Given the description of an element on the screen output the (x, y) to click on. 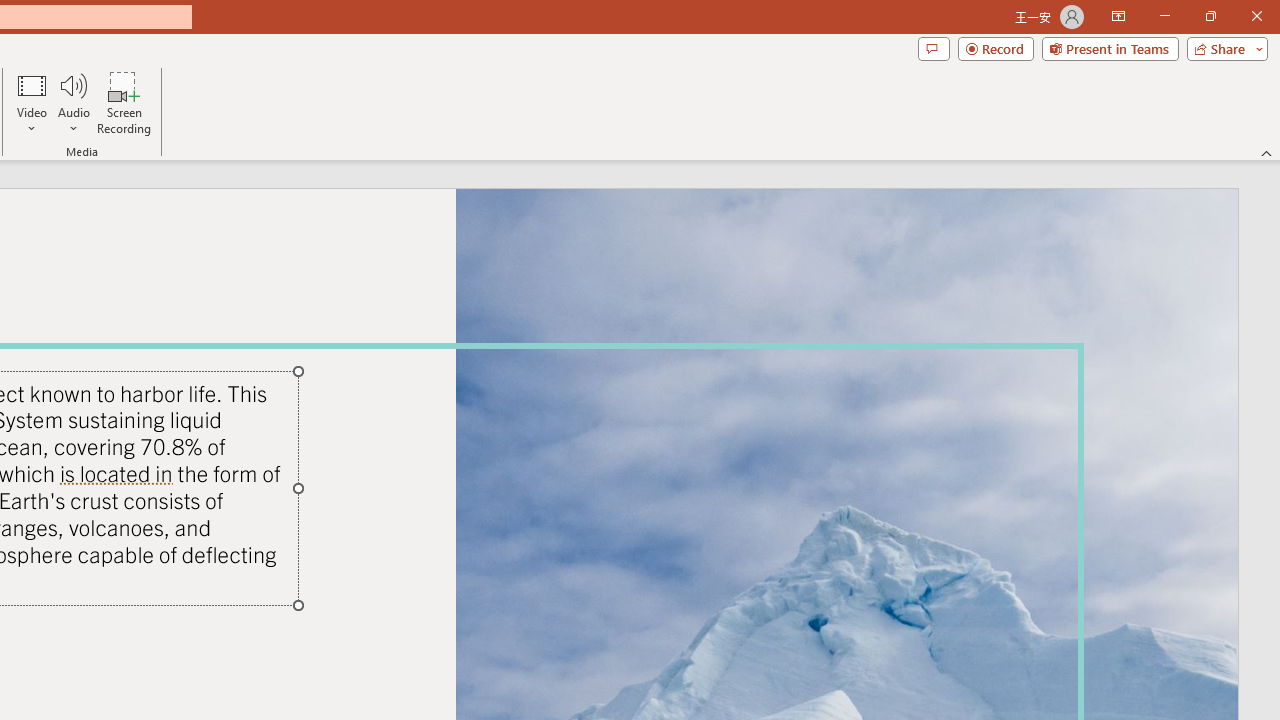
Present in Teams (1109, 48)
Audio (73, 102)
Screen Recording... (123, 102)
Video (31, 102)
Share (1223, 48)
Collapse the Ribbon (1267, 152)
Restore Down (1210, 16)
Ribbon Display Options (1118, 16)
